Given the description of an element on the screen output the (x, y) to click on. 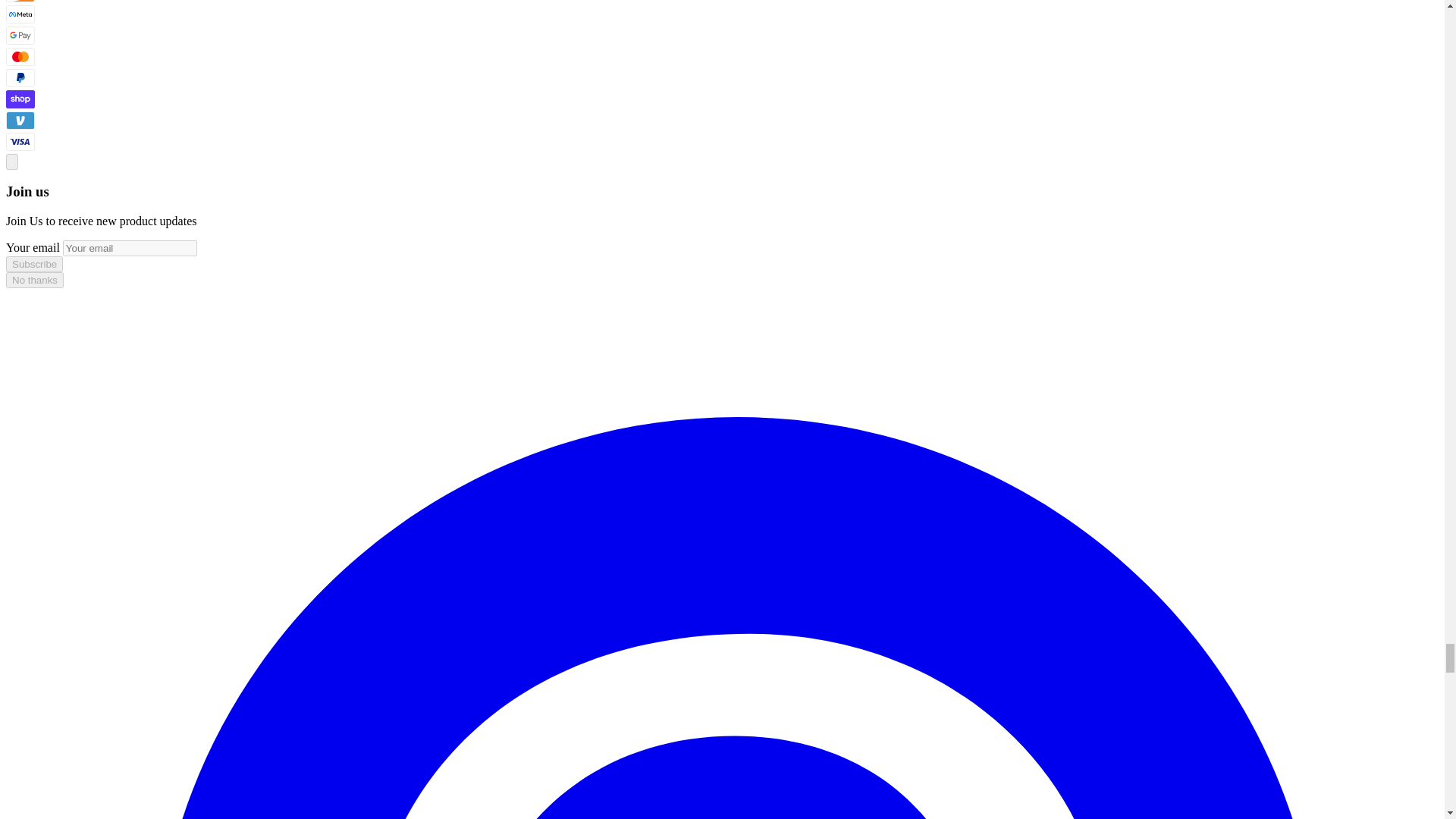
Venmo (19, 120)
Mastercard (19, 56)
Shop Pay (19, 99)
Discover (19, 1)
Visa (19, 141)
Google Pay (19, 35)
Meta Pay (19, 13)
PayPal (19, 77)
